Given the description of an element on the screen output the (x, y) to click on. 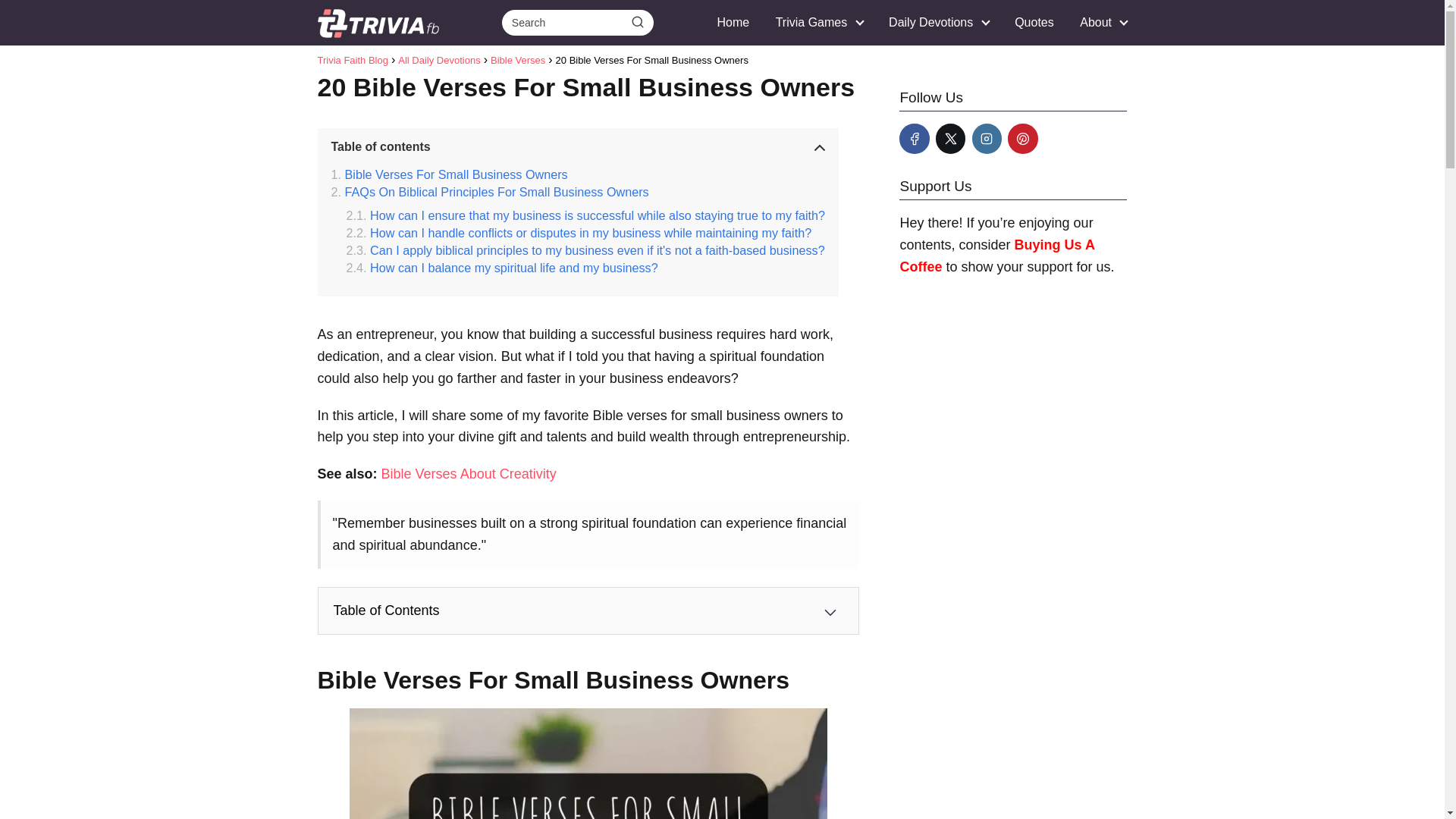
Quotes (1034, 21)
All Daily Devotions (438, 60)
Trivia Games (814, 21)
Home (733, 21)
X (950, 138)
How can I balance my spiritual life and my business? (502, 268)
Trivia Faith Blog (352, 60)
How can I balance my spiritual life and my business? (502, 268)
Facebook (913, 138)
Bible Verses About Creativity (468, 473)
Bible Verses For Small Business Owners (448, 174)
Bible Verses (517, 60)
